Given the description of an element on the screen output the (x, y) to click on. 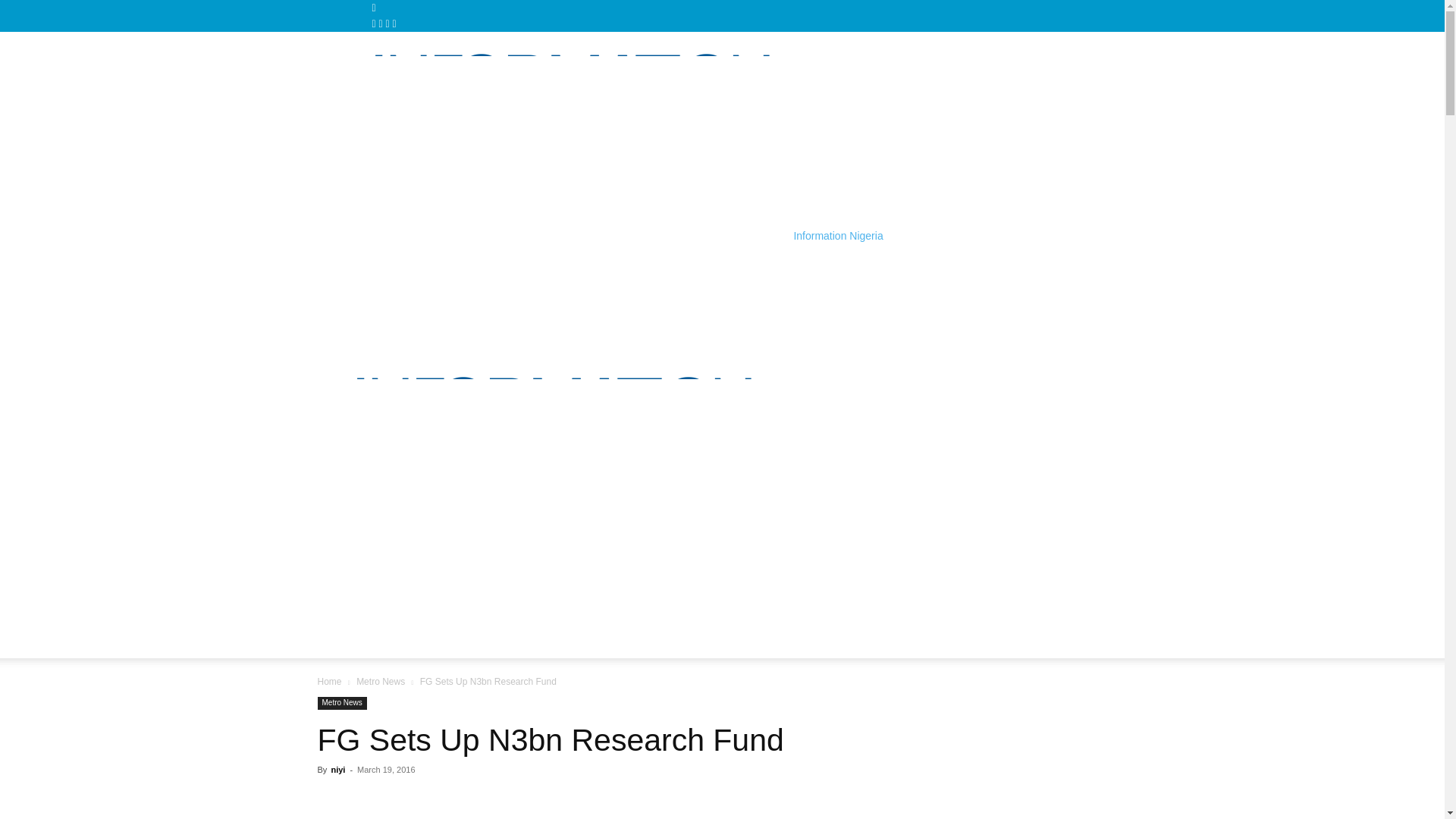
Search (1402, 700)
View all posts in Metro News (380, 681)
Nigeria News, Nigerian Newspaper (562, 135)
POLITICS (551, 589)
NATIONAL NEWS (444, 589)
METRO NEWS (884, 589)
Information Nigeria (608, 235)
HOME (347, 589)
Nigeria News, Nigerian Newspaper (544, 458)
BBC PIDGIN (779, 589)
SPORTS (974, 589)
SPECIAL REPORTS (660, 589)
